Given the description of an element on the screen output the (x, y) to click on. 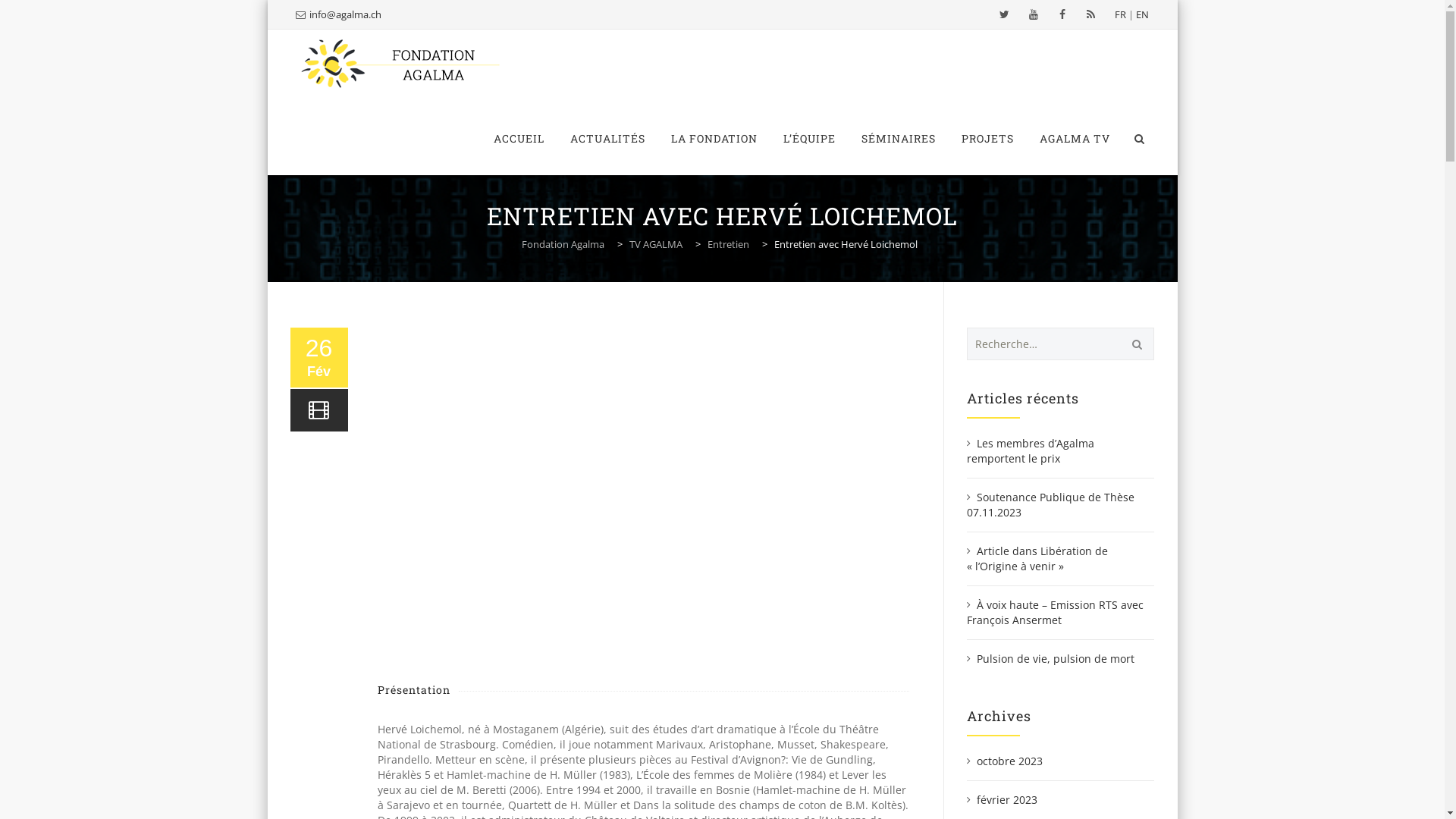
PROJETS Element type: text (986, 138)
octobre 2023 Element type: text (1004, 760)
Entretien Element type: text (729, 244)
Fondation Agalma Element type: text (563, 244)
RSS Element type: hover (1090, 14)
Fondation Agalma Element type: hover (398, 65)
AGALMA TV Element type: text (1074, 138)
Facebook Element type: hover (1062, 14)
Pulsion de vie, pulsion de mort Element type: text (1050, 658)
FR Element type: text (1120, 14)
TV AGALMA Element type: text (656, 244)
LA FONDATION Element type: text (714, 138)
Twitter Element type: hover (1004, 14)
ACCUEIL Element type: text (518, 138)
Skip to content Element type: text (480, 102)
YouTube Element type: hover (1033, 14)
info@agalma.ch Element type: text (345, 14)
Rechercher Element type: text (1134, 343)
EN Element type: text (1141, 14)
